Given the description of an element on the screen output the (x, y) to click on. 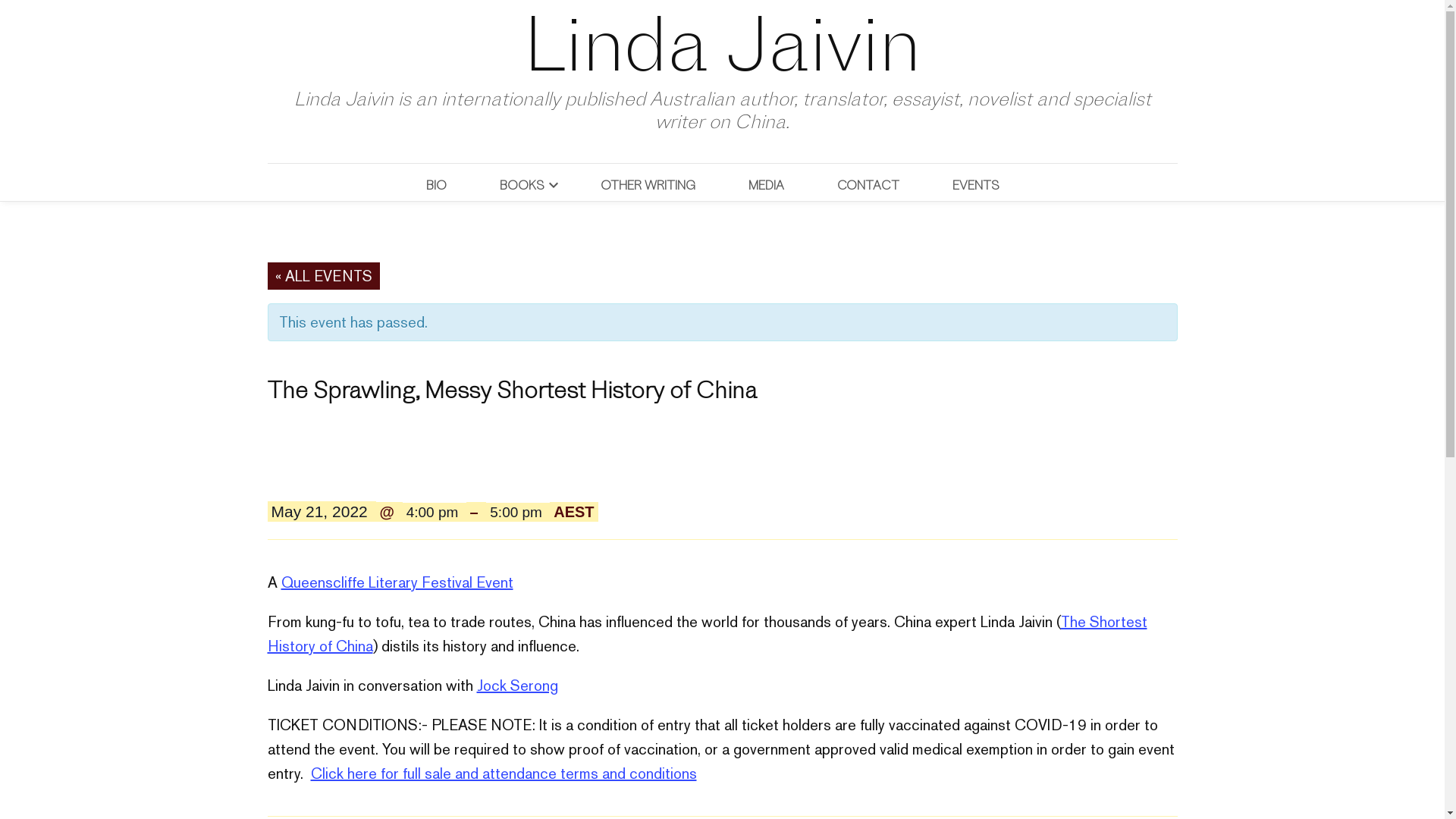
Linda Jaivin (722, 44)
BOOKS (514, 184)
BIO (443, 184)
